Given the description of an element on the screen output the (x, y) to click on. 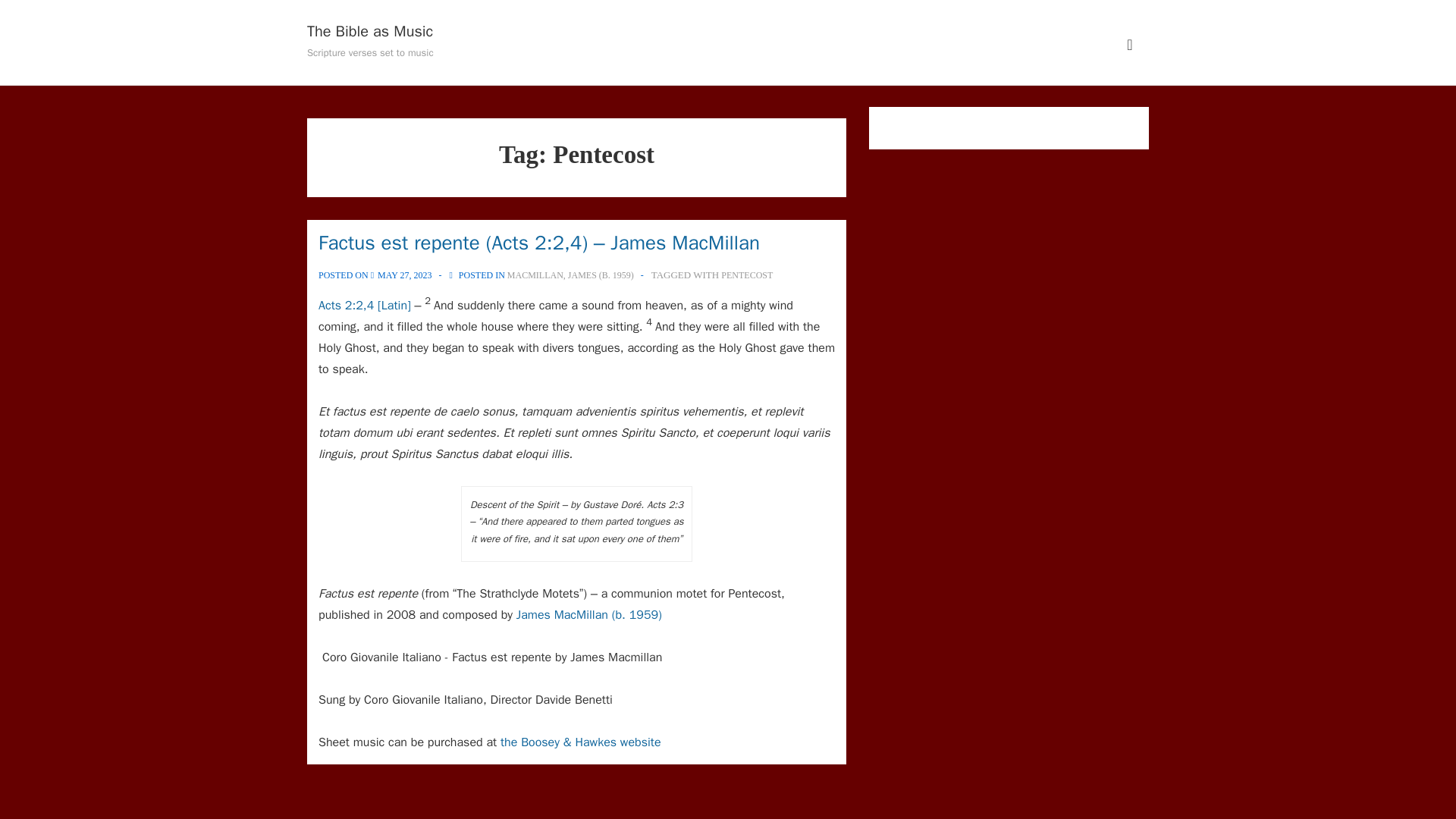
MENU (1130, 44)
The Bible as Music (369, 31)
